Given the description of an element on the screen output the (x, y) to click on. 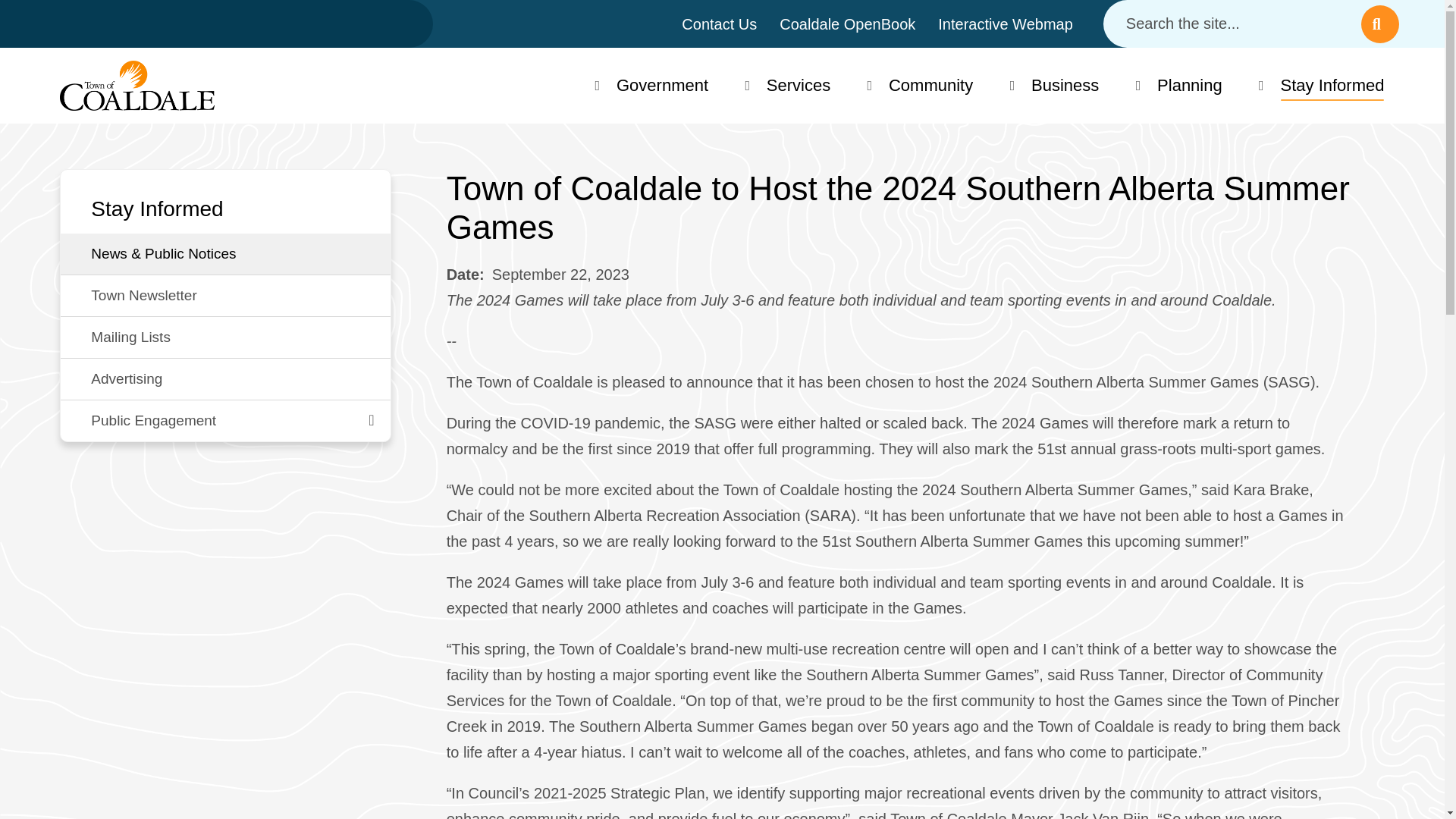
Contact Us (719, 24)
Search (1380, 23)
Enter the terms you wish to search for. (1232, 23)
Interactive Webmap (1005, 24)
Services (797, 85)
Coaldale OpenBook (846, 24)
Government (663, 85)
